Given the description of an element on the screen output the (x, y) to click on. 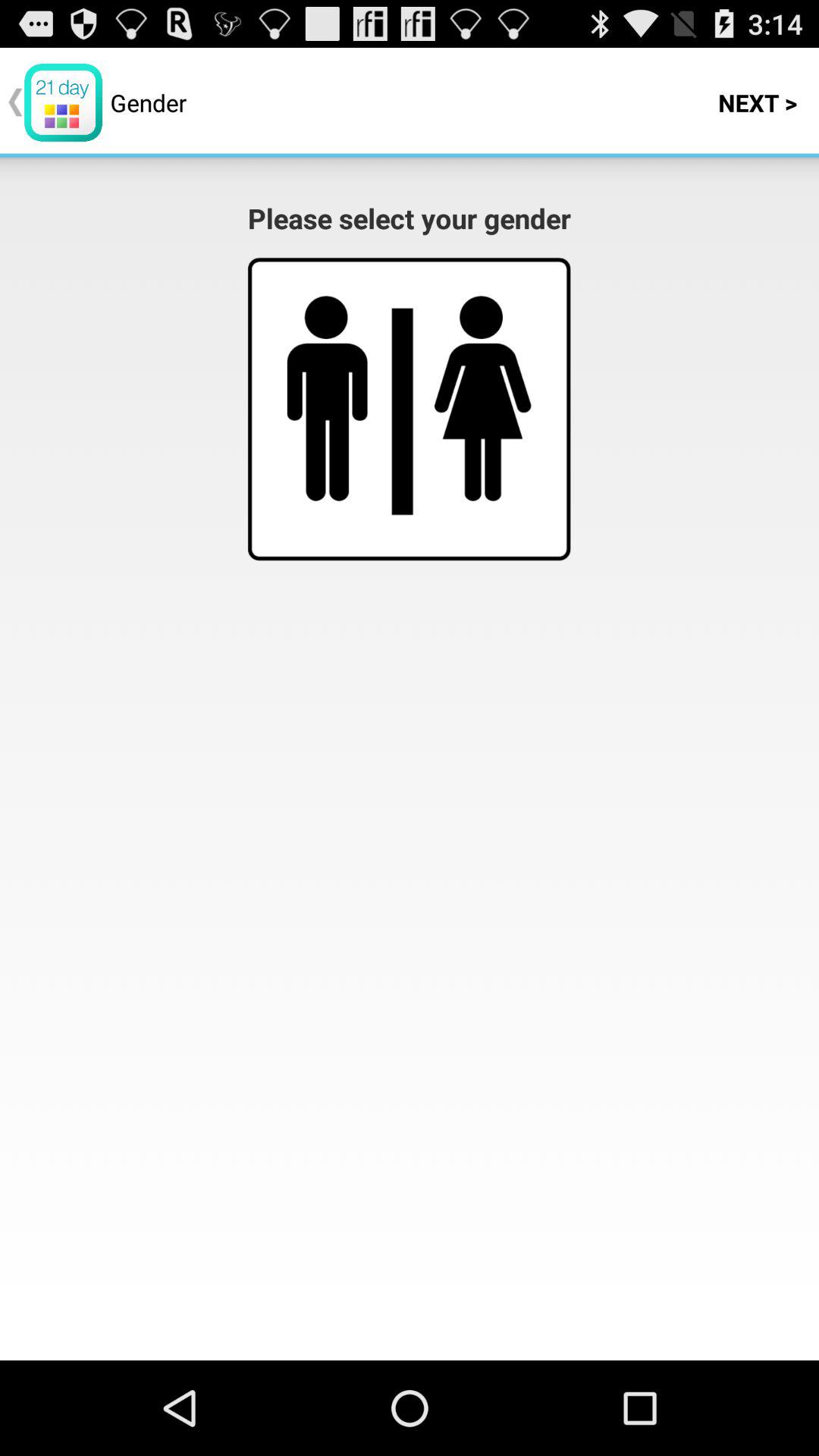
select male (327, 398)
